Given the description of an element on the screen output the (x, y) to click on. 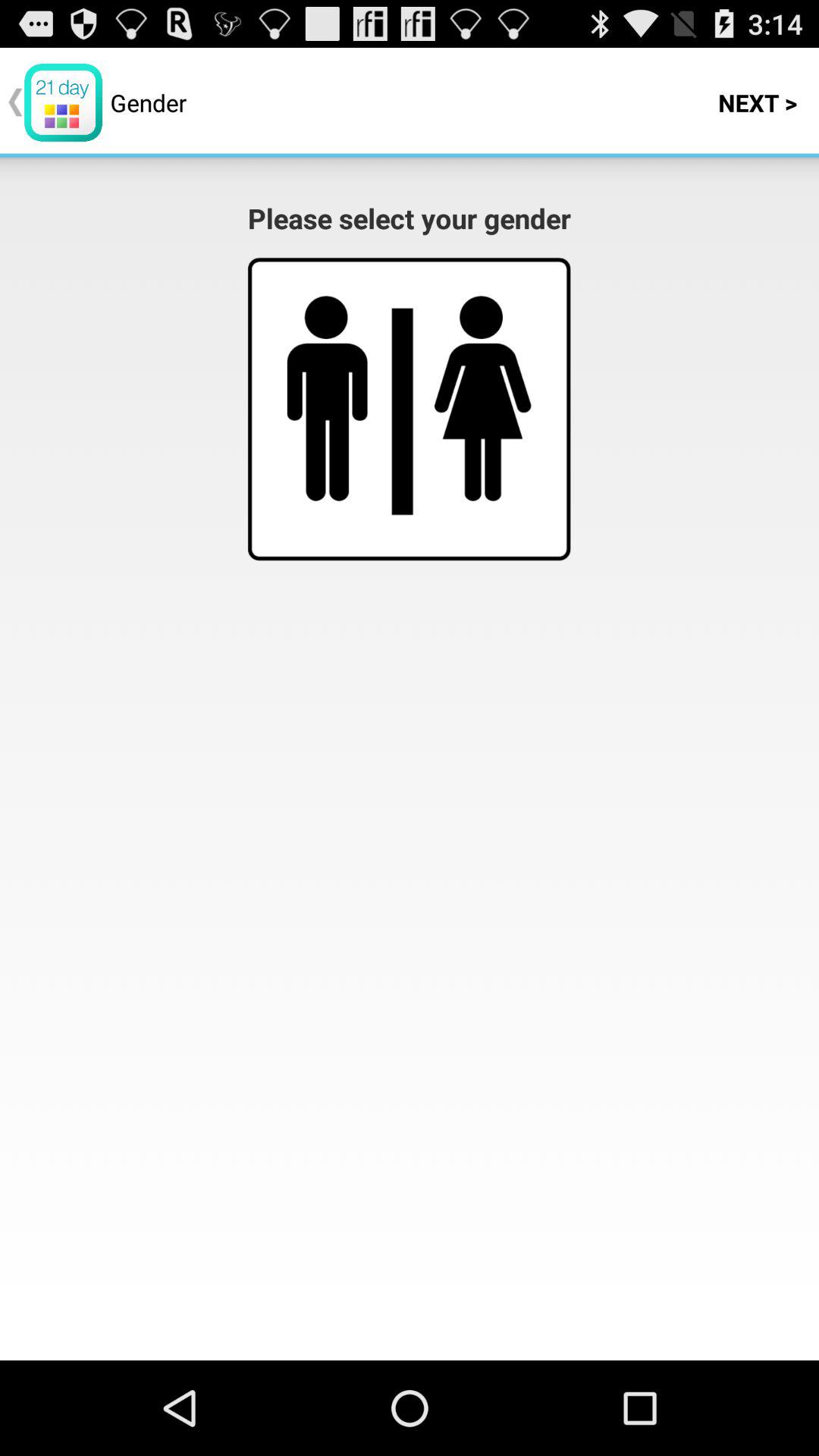
select male (327, 398)
